Given the description of an element on the screen output the (x, y) to click on. 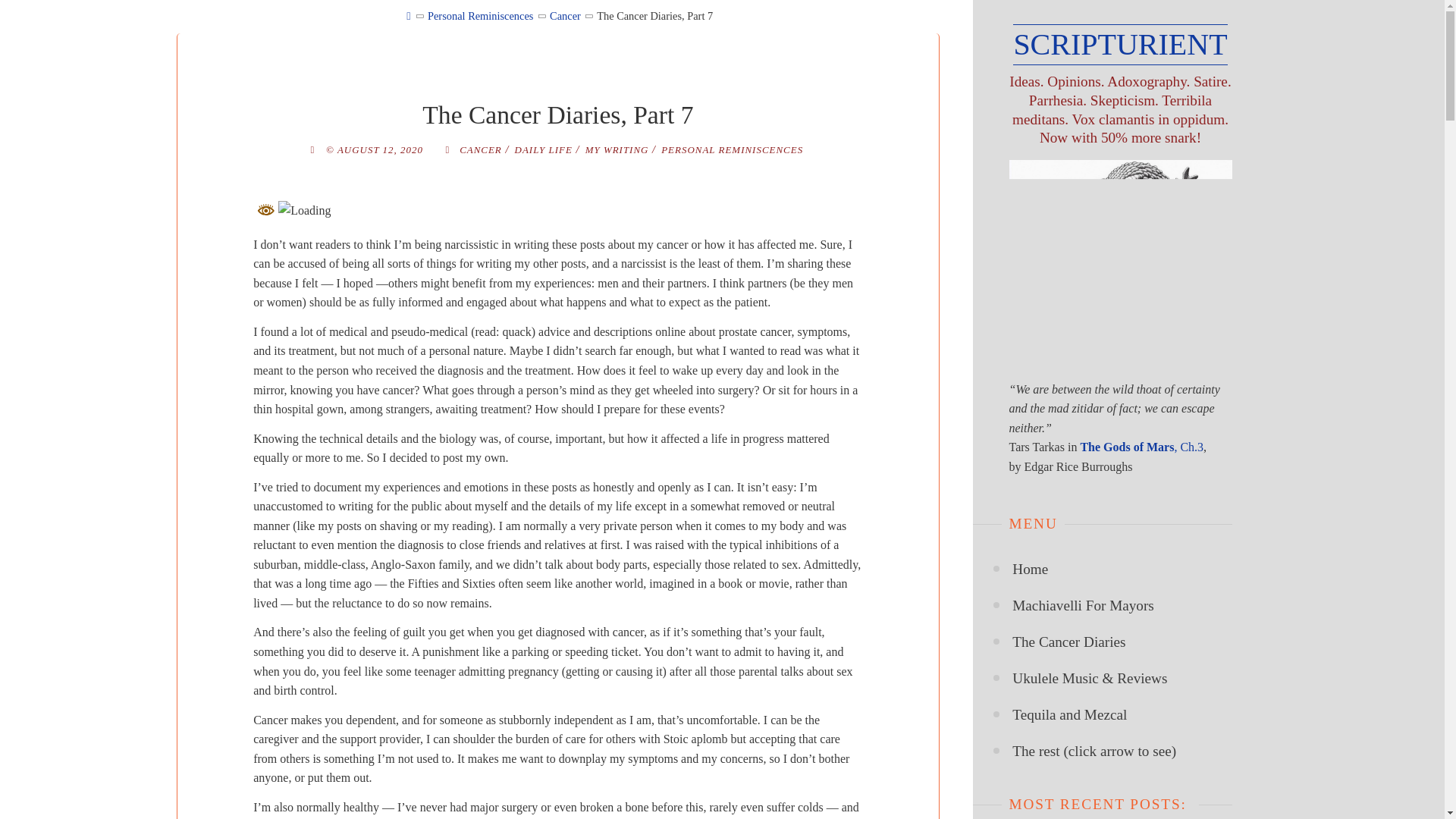
SCRIPTURIENT (1120, 44)
The Gods of Mars, Ch.3 (1142, 446)
The Cancer Diaries (1068, 641)
Tequila and Mezcal (1068, 714)
Machiavelli For Mayors (1082, 605)
Home (1029, 568)
